Given the description of an element on the screen output the (x, y) to click on. 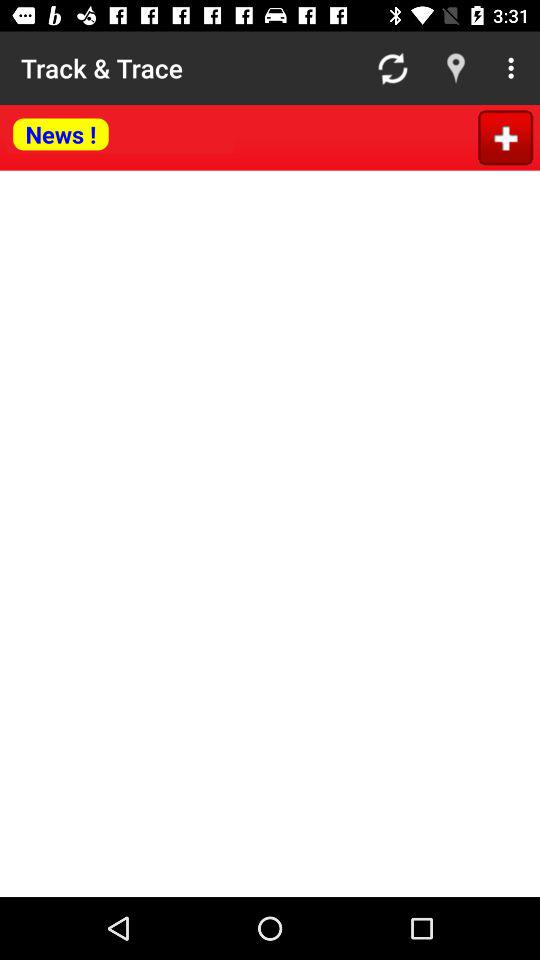
see the news (120, 135)
